Given the description of an element on the screen output the (x, y) to click on. 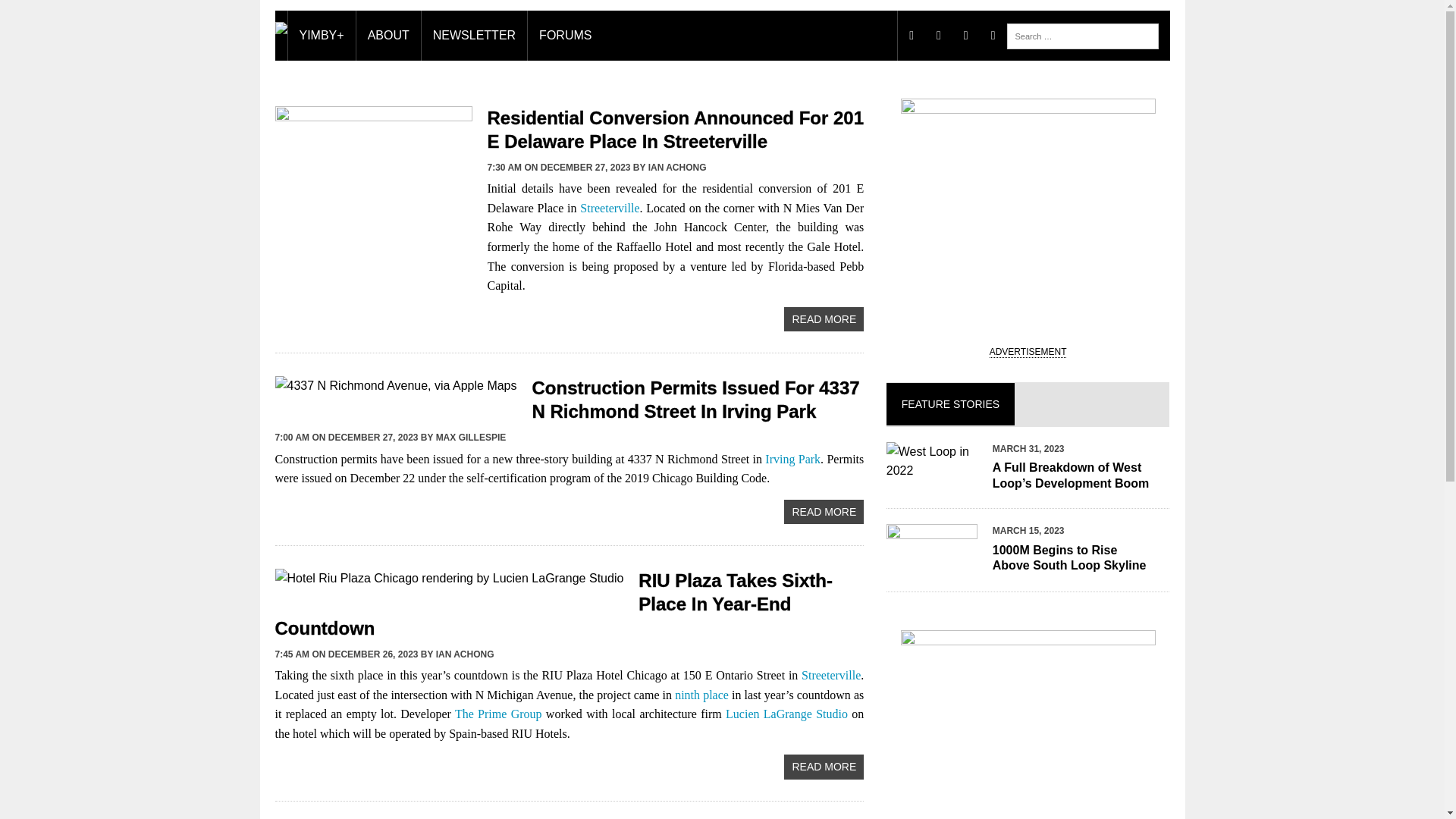
MAX GILLESPIE (470, 437)
ABOUT (388, 35)
The Prime Group (497, 713)
ninth place (702, 694)
NEWSLETTER (474, 35)
Search (75, 14)
Streeterville (831, 675)
Irving Park (793, 459)
